Given the description of an element on the screen output the (x, y) to click on. 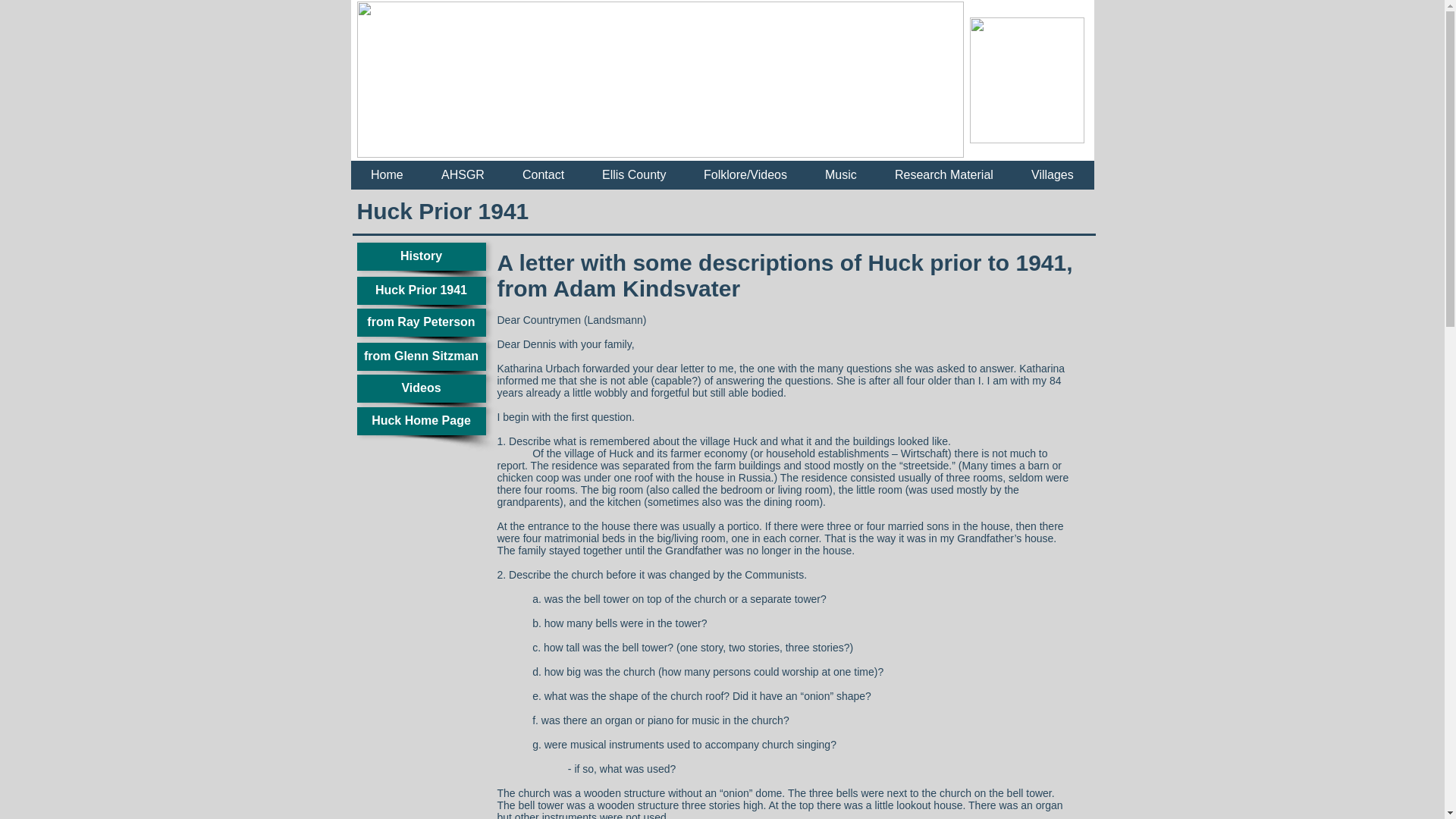
AHSGR (462, 179)
Music (841, 179)
Research Material (943, 179)
Villages (1052, 179)
Home (387, 179)
AHSGR-LOGO.png (1026, 80)
Ellis County (633, 179)
Contact (543, 179)
